Given the description of an element on the screen output the (x, y) to click on. 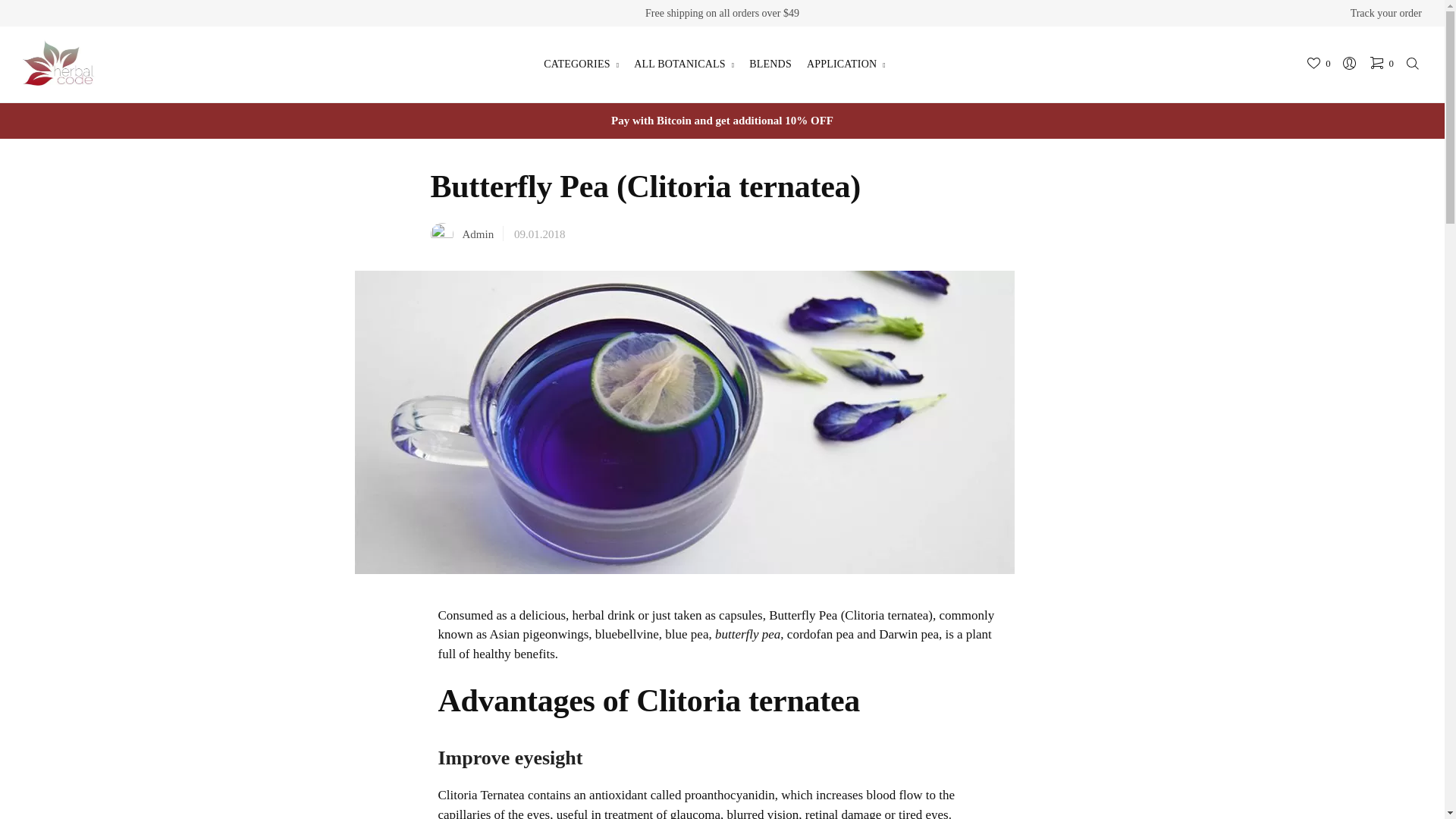
ALL BOTANICALS (683, 63)
Track your order (1386, 13)
CATEGORIES (580, 63)
APPLICATION (845, 63)
